Given the description of an element on the screen output the (x, y) to click on. 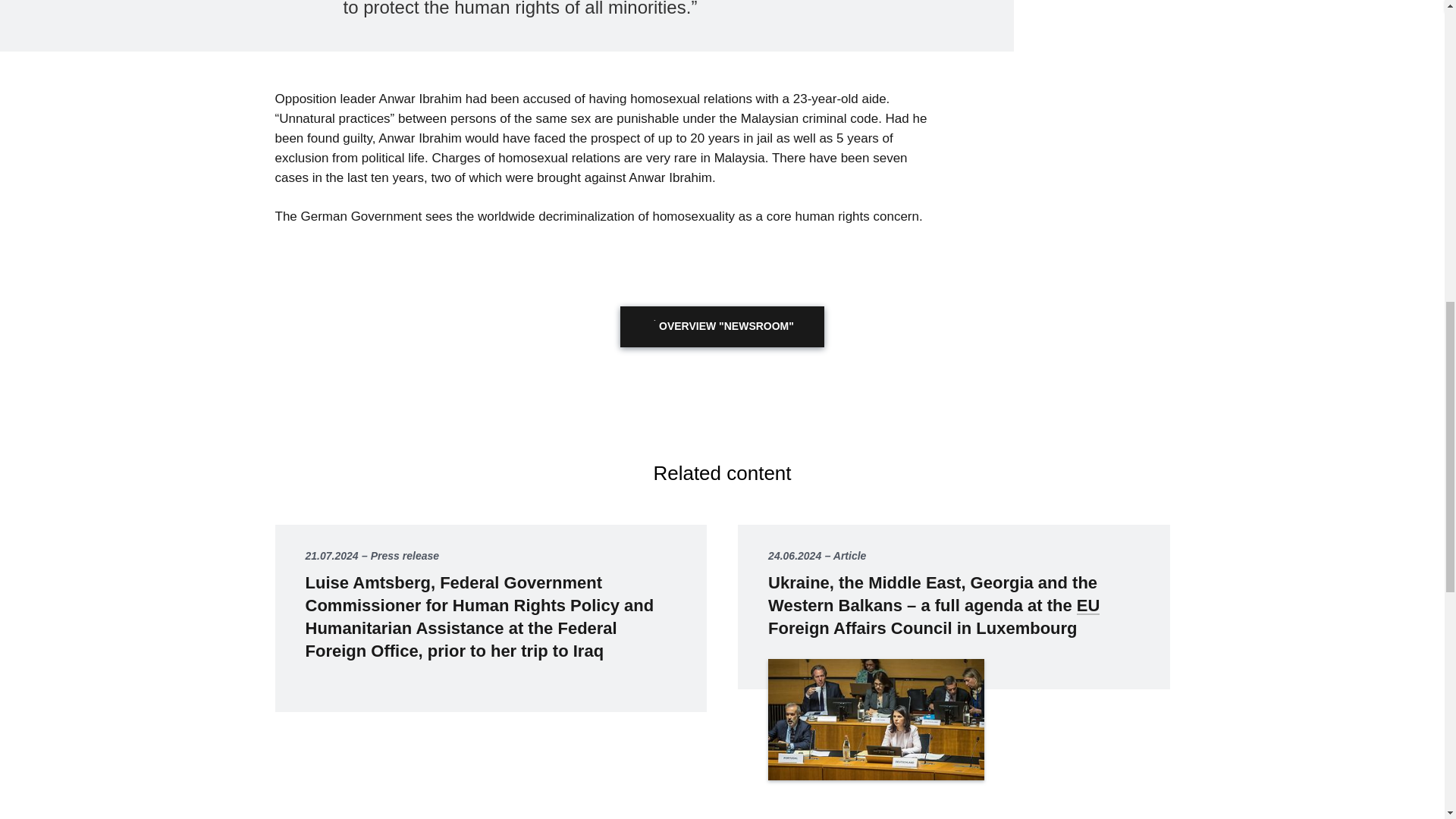
Overview Newsroom (722, 326)
European Union (1088, 605)
